Given the description of an element on the screen output the (x, y) to click on. 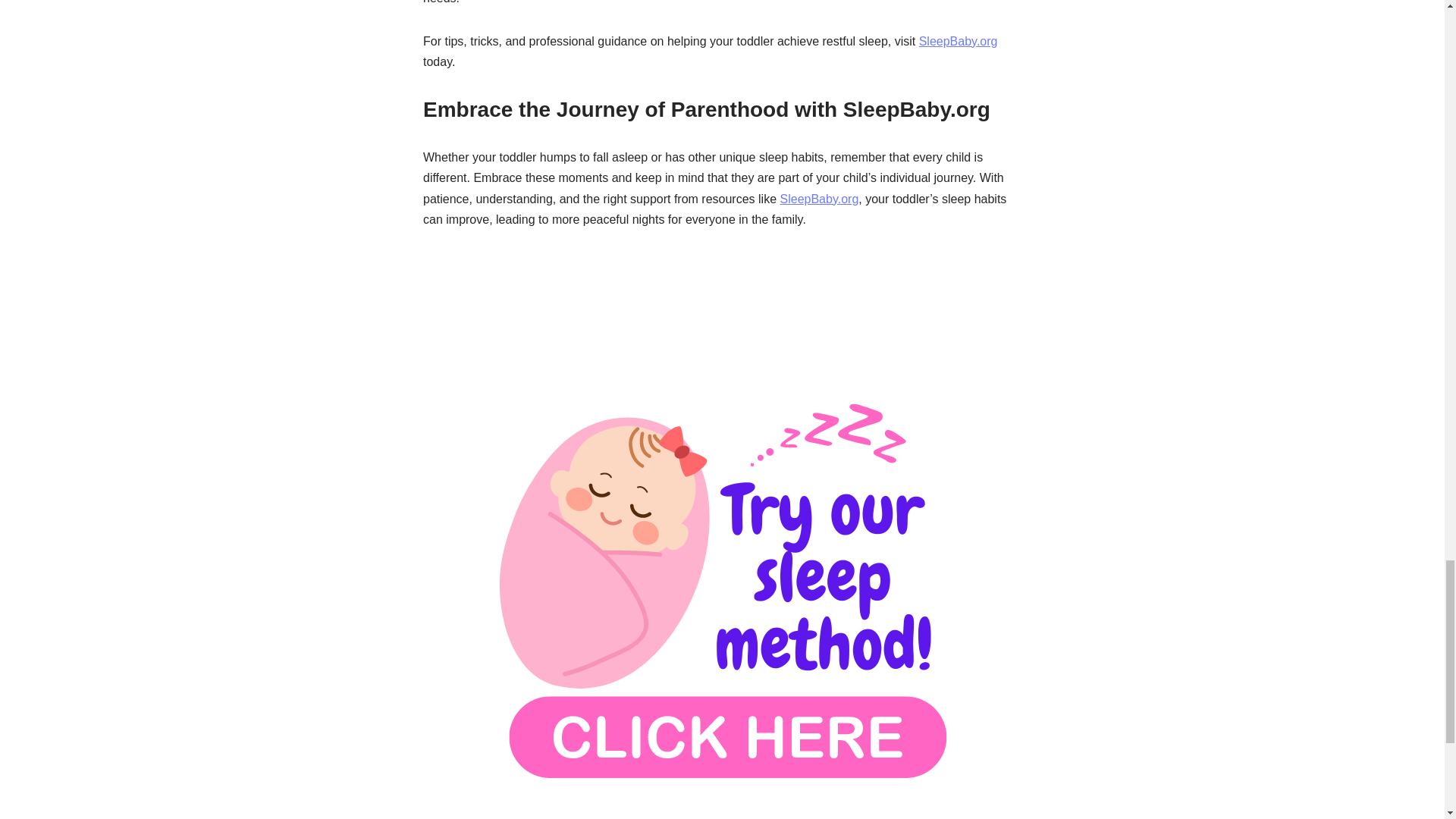
SleepBaby.org (818, 198)
SleepBaby.org (957, 41)
